Given the description of an element on the screen output the (x, y) to click on. 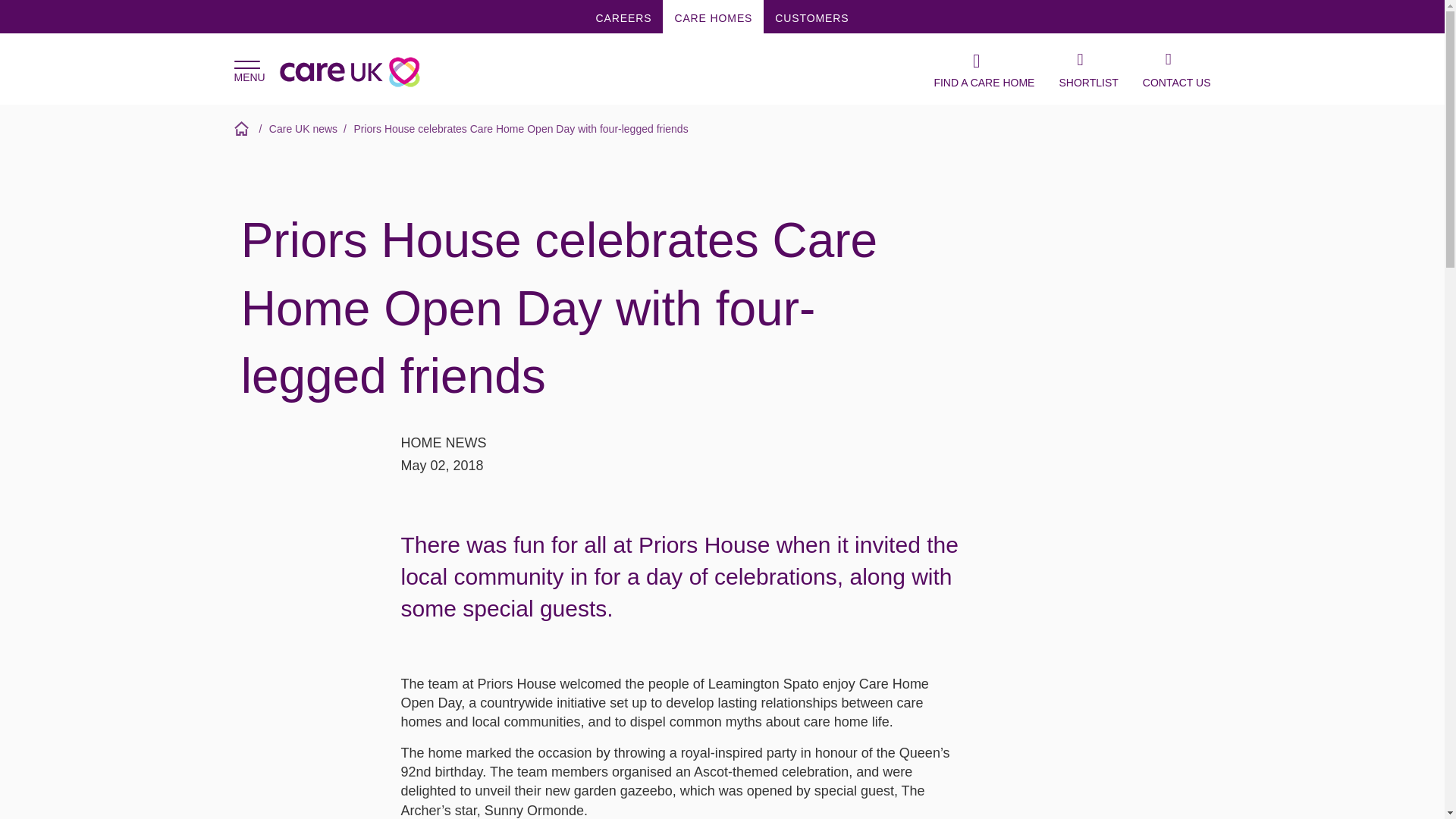
SHORTLIST (1088, 68)
CUSTOMERS (811, 16)
home (241, 128)
FIND A CARE HOME (983, 68)
CONTACT US (1176, 68)
CAREERS (624, 16)
CARE HOMES (712, 16)
